Given the description of an element on the screen output the (x, y) to click on. 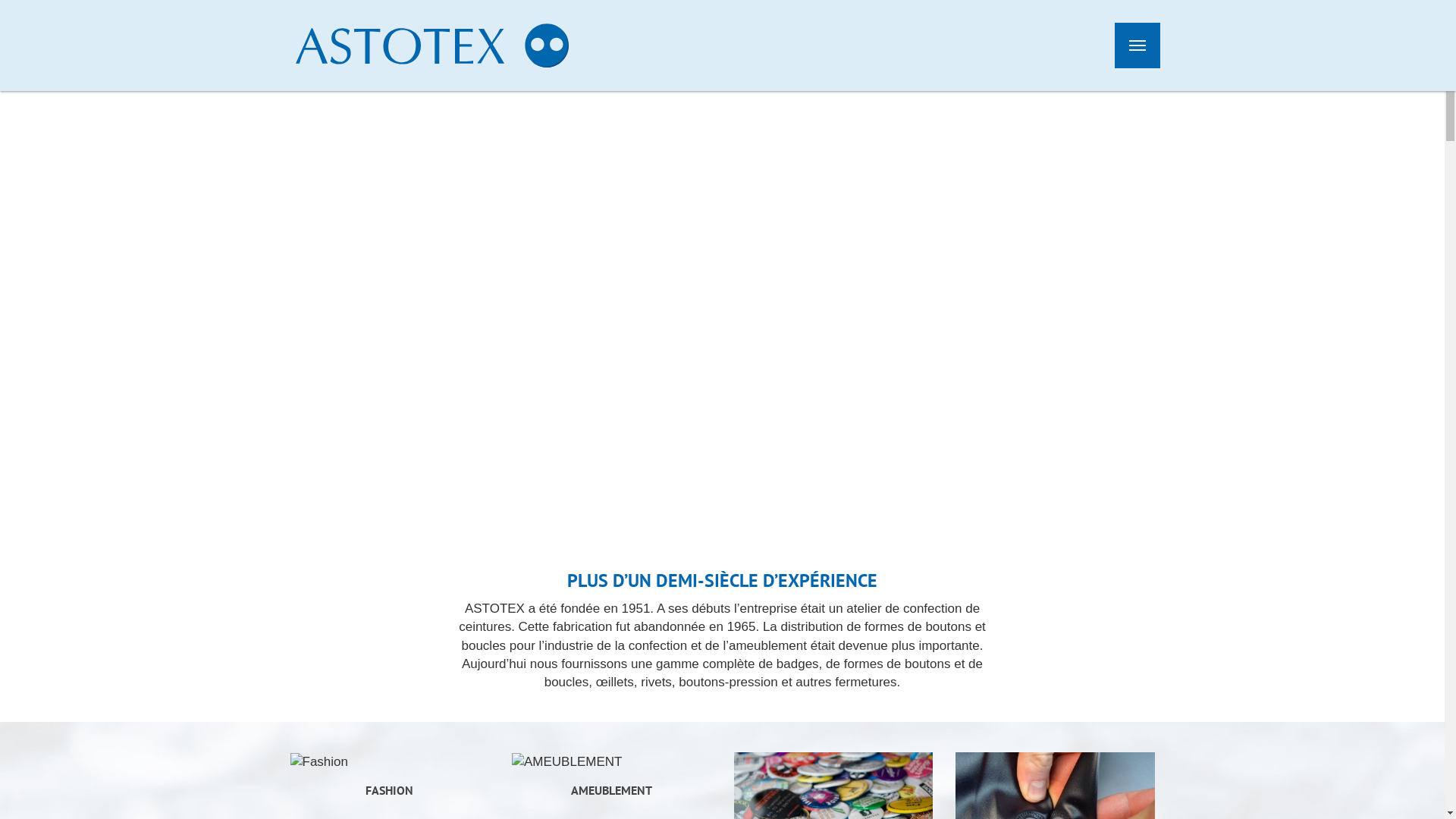
Menu Element type: text (1137, 45)
Astotex Element type: hover (431, 45)
